Given the description of an element on the screen output the (x, y) to click on. 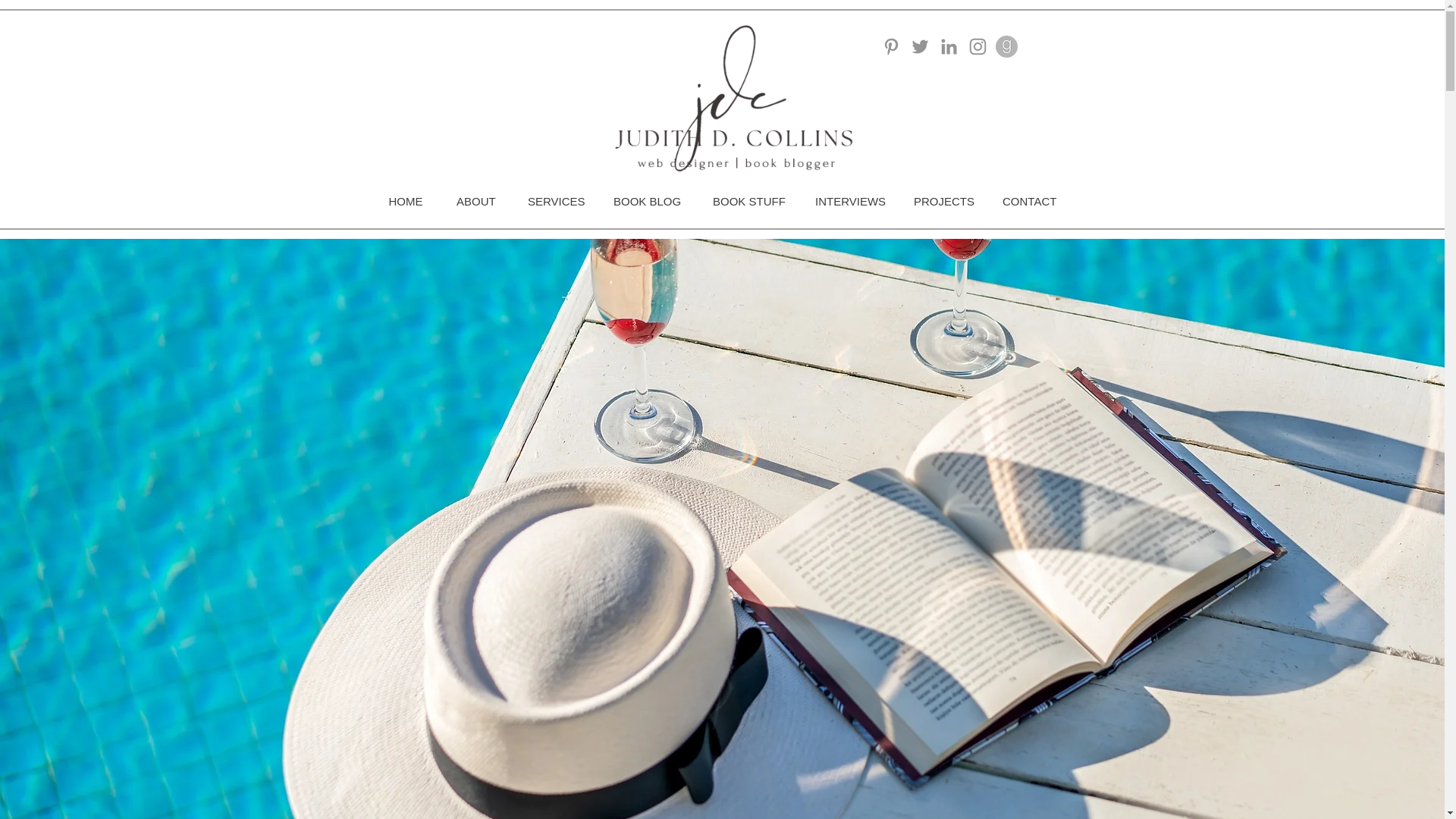
HOME (405, 201)
BOOK STUFF (746, 201)
BOOK BLOG (645, 201)
INTERVIEWS (846, 201)
ABOUT (475, 201)
SERVICES (553, 201)
PROJECTS (940, 201)
